Given the description of an element on the screen output the (x, y) to click on. 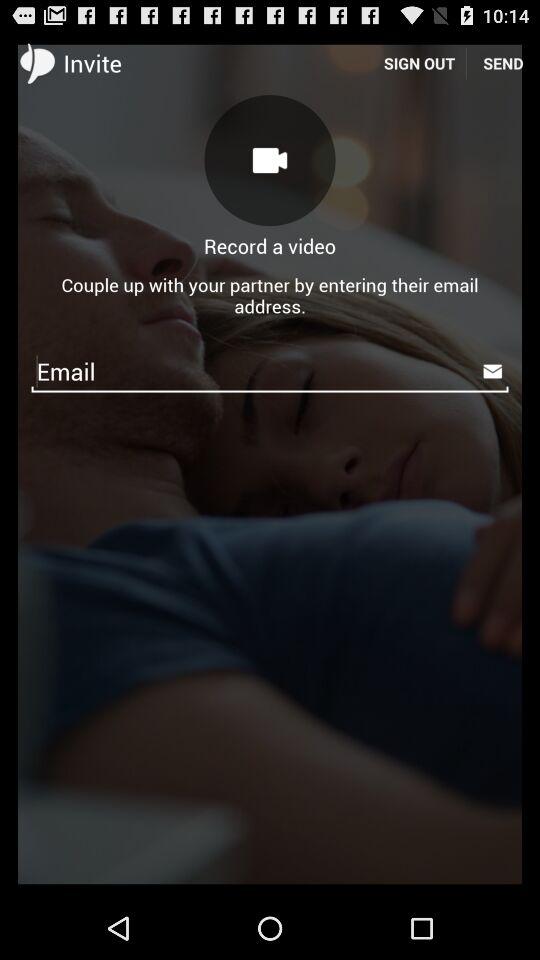
turn off the item to the left of the sign out icon (269, 159)
